Given the description of an element on the screen output the (x, y) to click on. 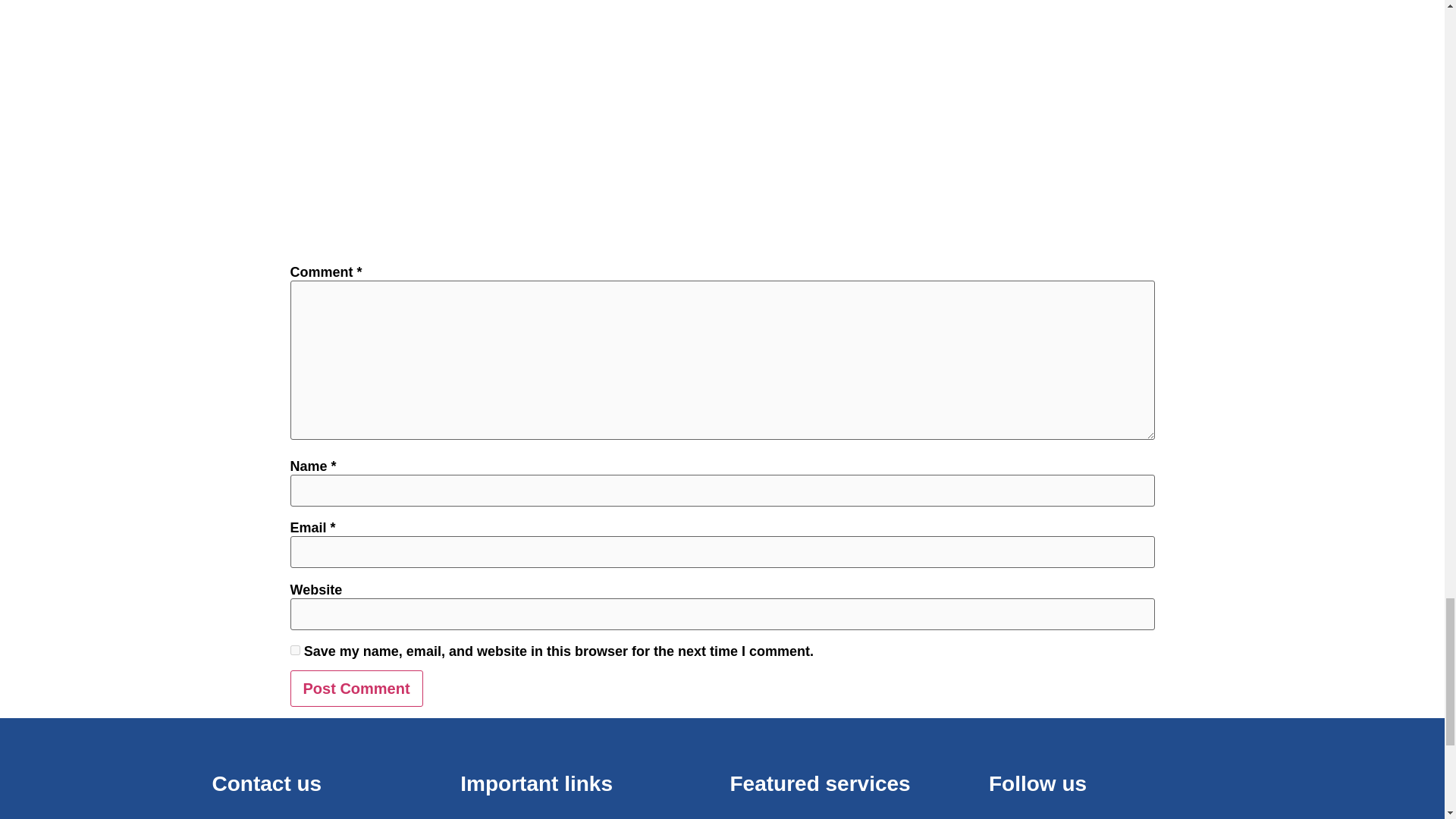
020 8522 4400 (302, 817)
yes (294, 650)
Post Comment (355, 688)
Post Comment (355, 688)
Home (587, 816)
